Given the description of an element on the screen output the (x, y) to click on. 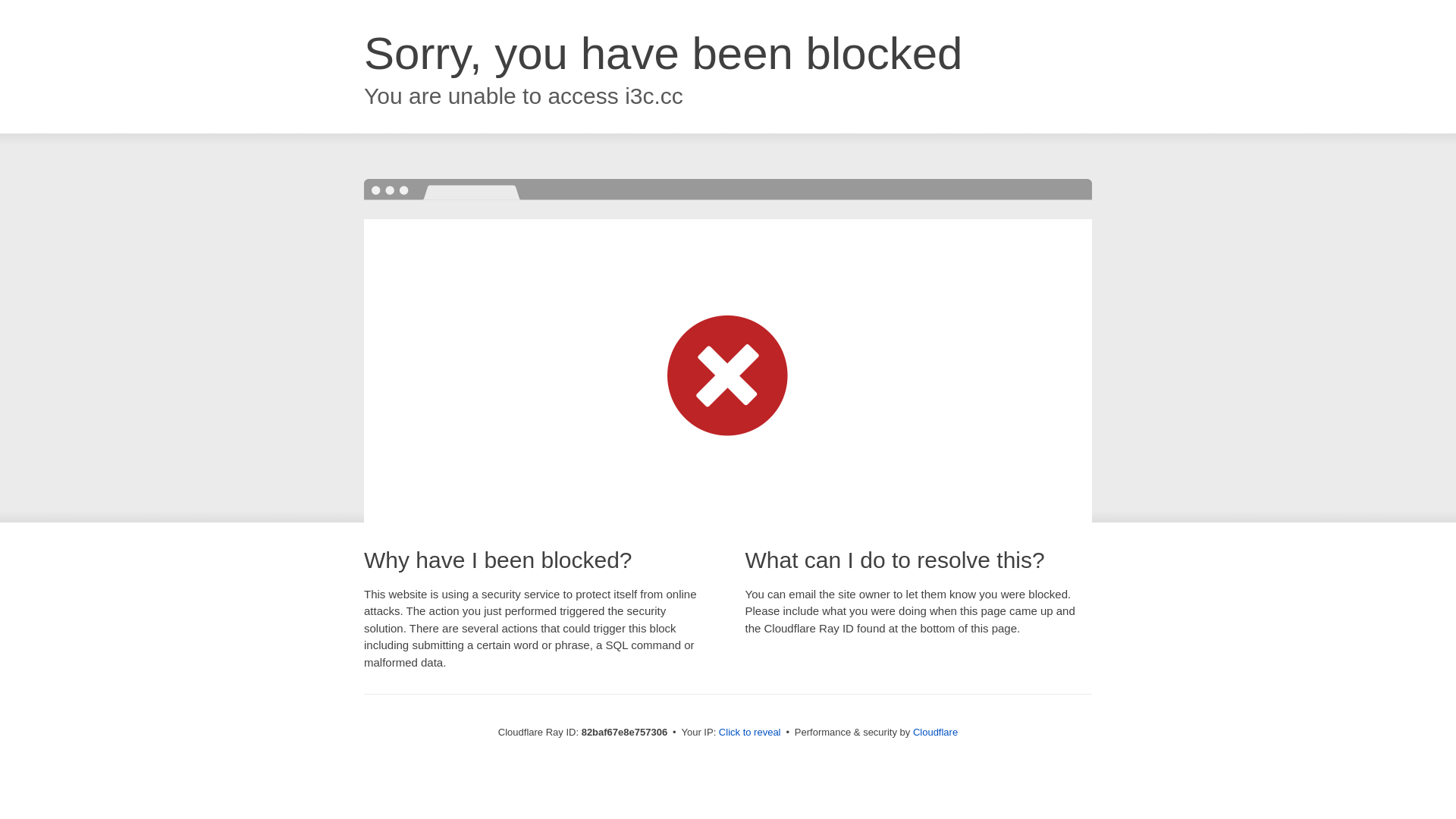
Click to reveal Element type: text (749, 732)
Cloudflare Element type: text (935, 731)
